Given the description of an element on the screen output the (x, y) to click on. 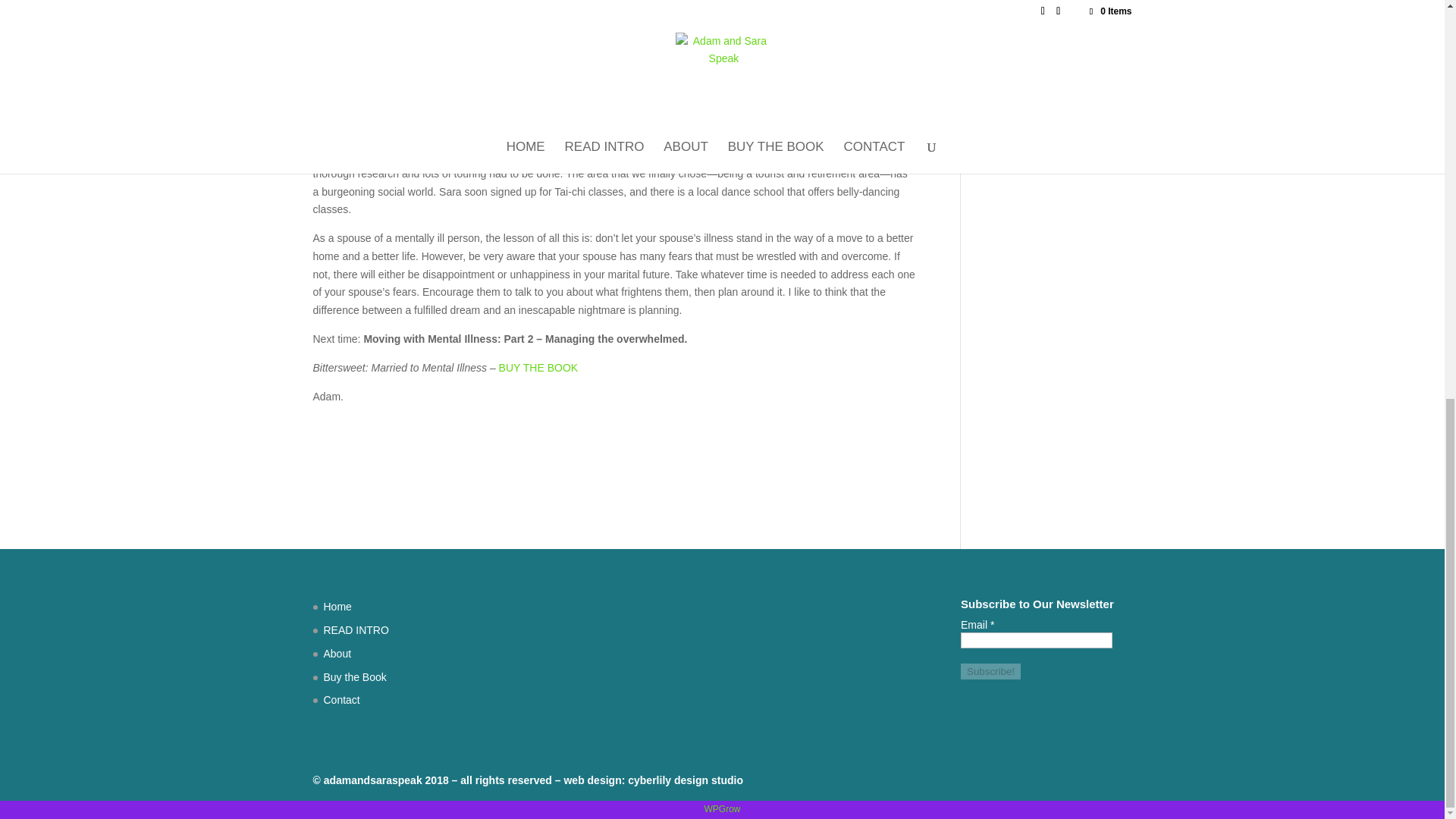
I Feel Pretty (1012, 42)
About (336, 653)
Home (336, 606)
Subscribe! (990, 671)
Email (1036, 640)
READ INTRO (355, 630)
The Hardys (1011, 135)
Subscribe! (990, 671)
Anniversary (1011, 19)
BUY THE BOOK (538, 367)
Buy the Book (354, 676)
Contact (341, 699)
web design: cyberlily design studio (652, 779)
Live Life (1003, 88)
Moving Blog (1013, 111)
